Given the description of an element on the screen output the (x, y) to click on. 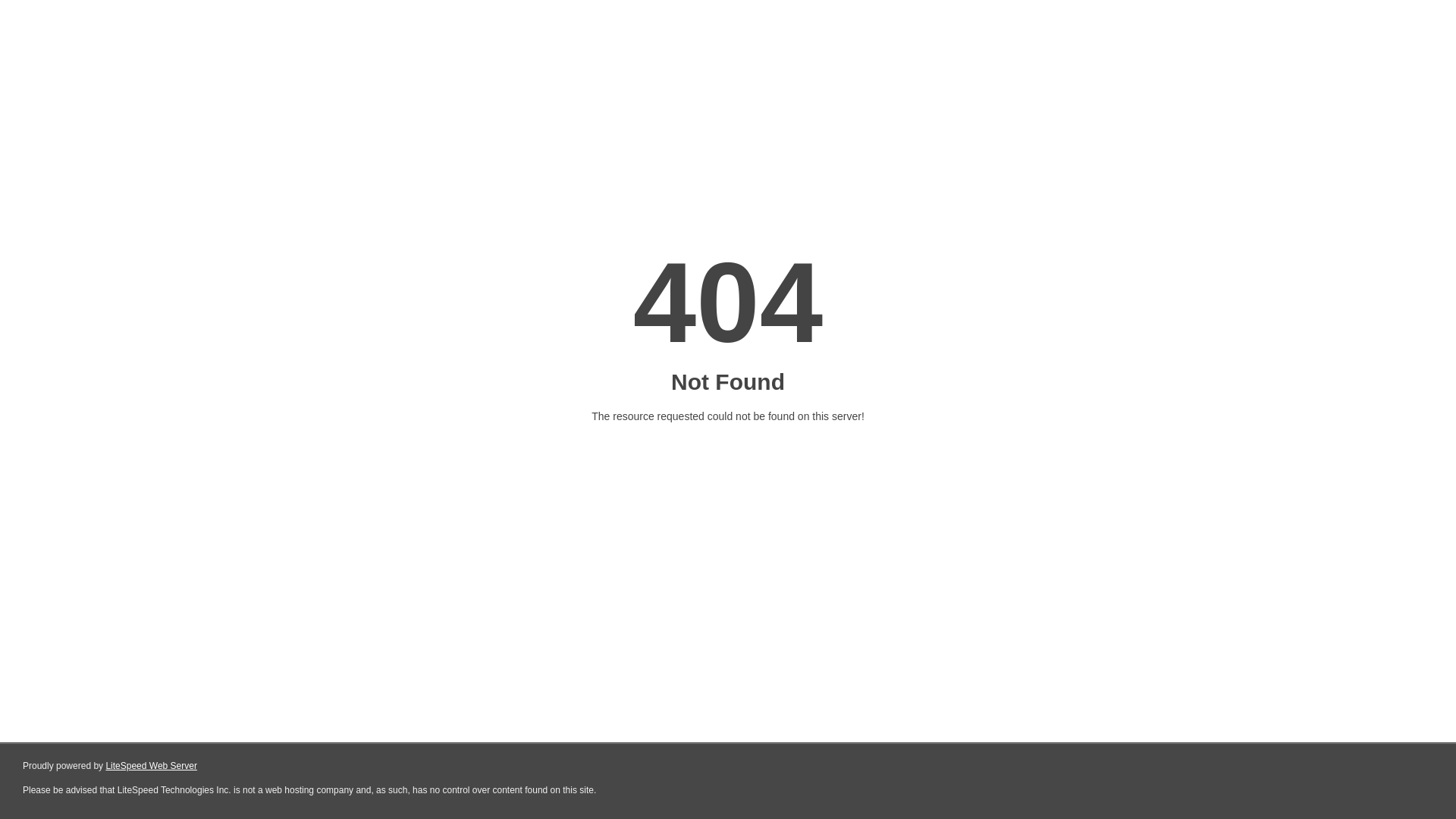
LiteSpeed Web Server Element type: text (151, 765)
